Given the description of an element on the screen output the (x, y) to click on. 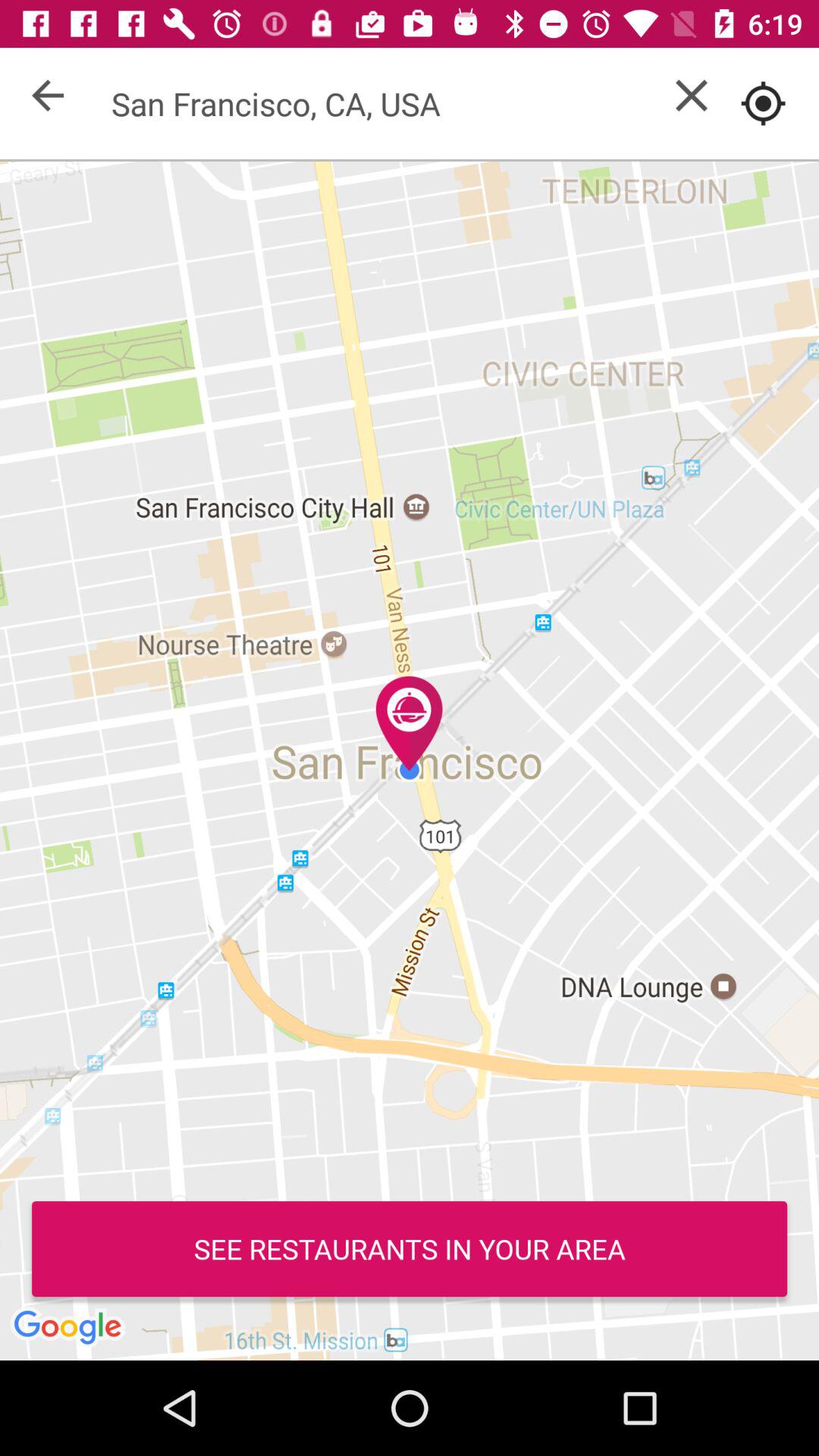
use current location (763, 103)
